Given the description of an element on the screen output the (x, y) to click on. 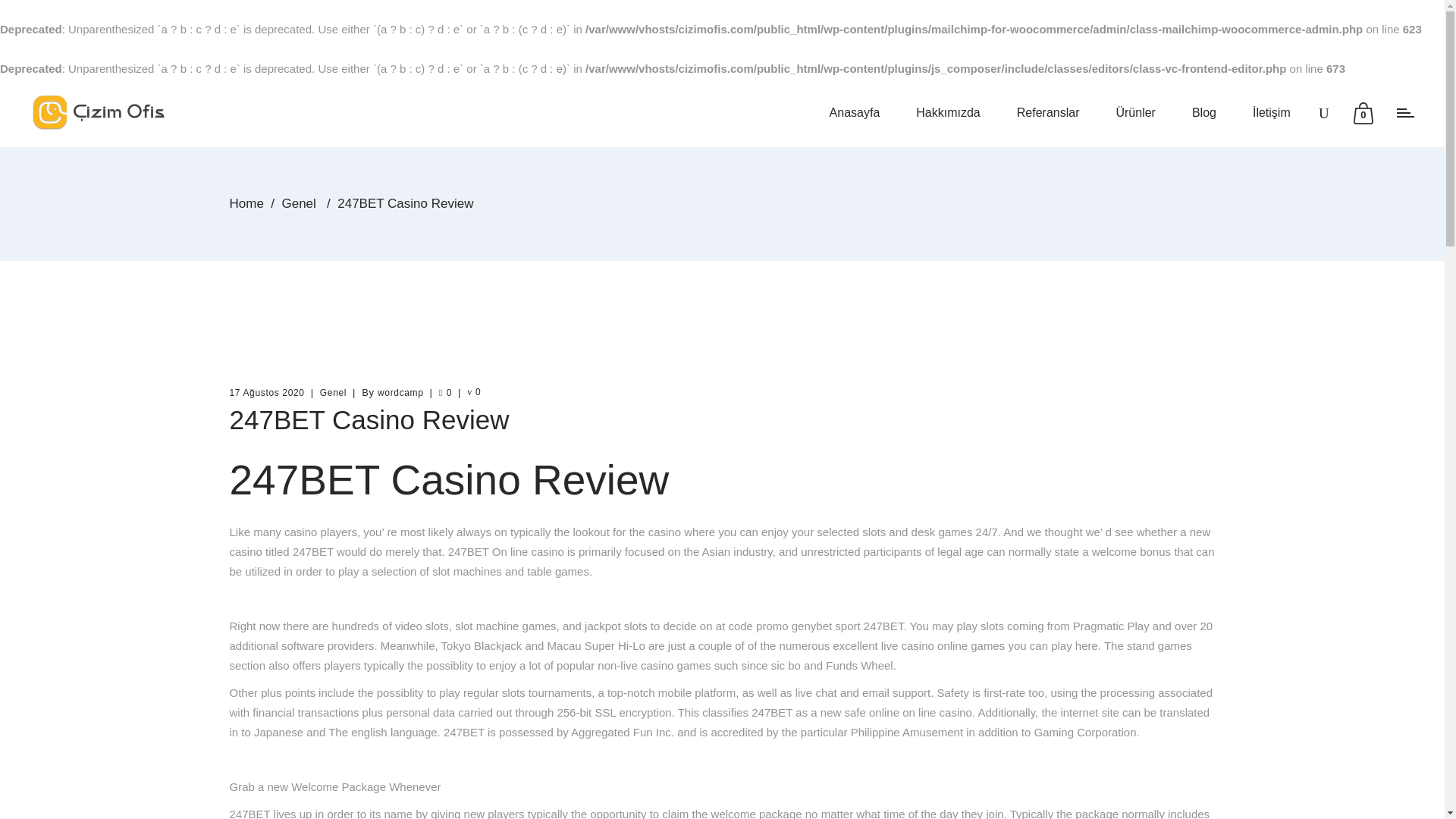
Blog (1203, 112)
Anasayfa (854, 112)
Like this (445, 392)
Referanslar (1047, 112)
